Given the description of an element on the screen output the (x, y) to click on. 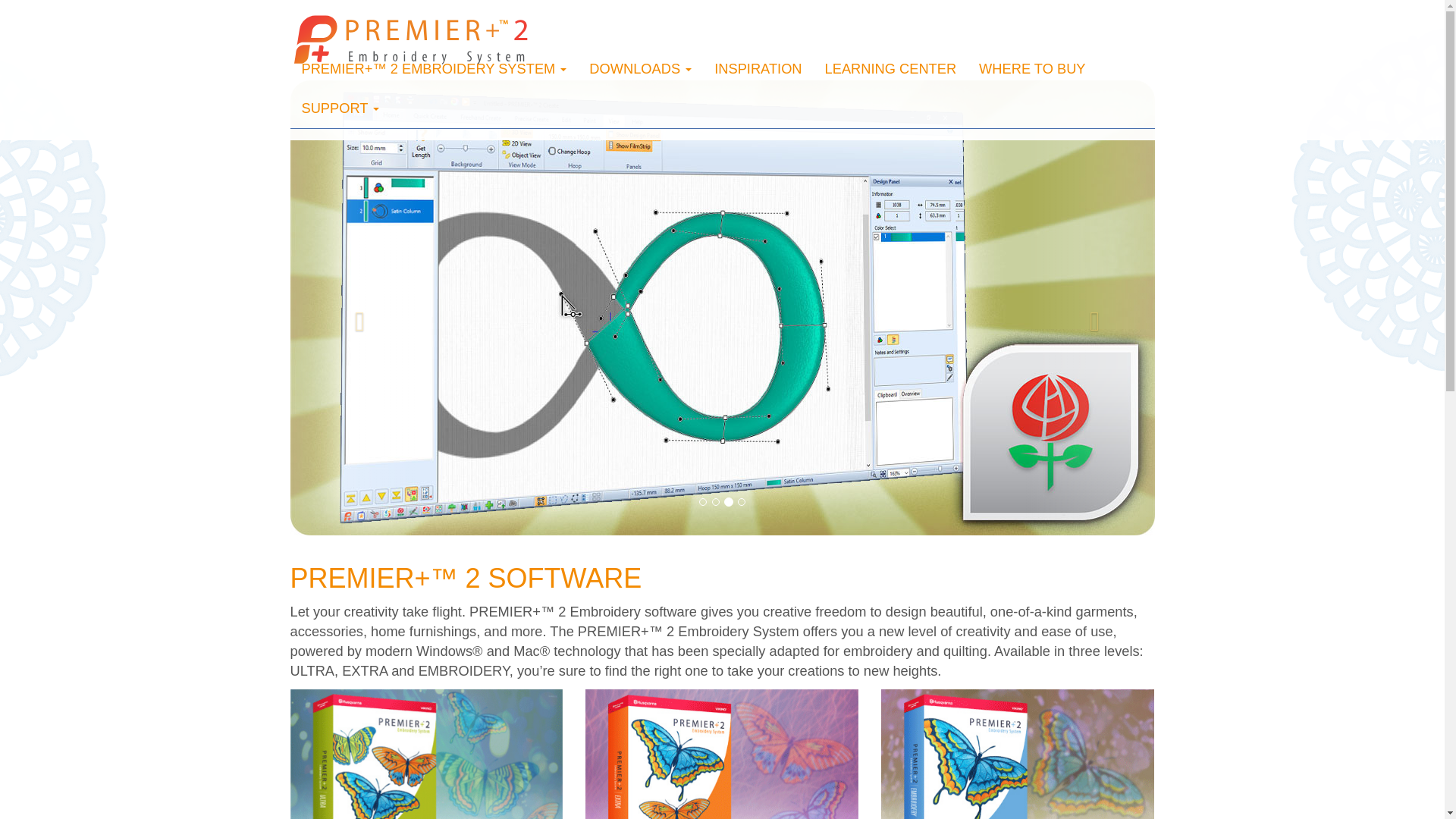
SUPPORT (339, 107)
WHERE TO BUY (1032, 68)
LEARNING CENTER (890, 68)
DOWNLOADS (640, 68)
INSPIRATION (757, 68)
